Given the description of an element on the screen output the (x, y) to click on. 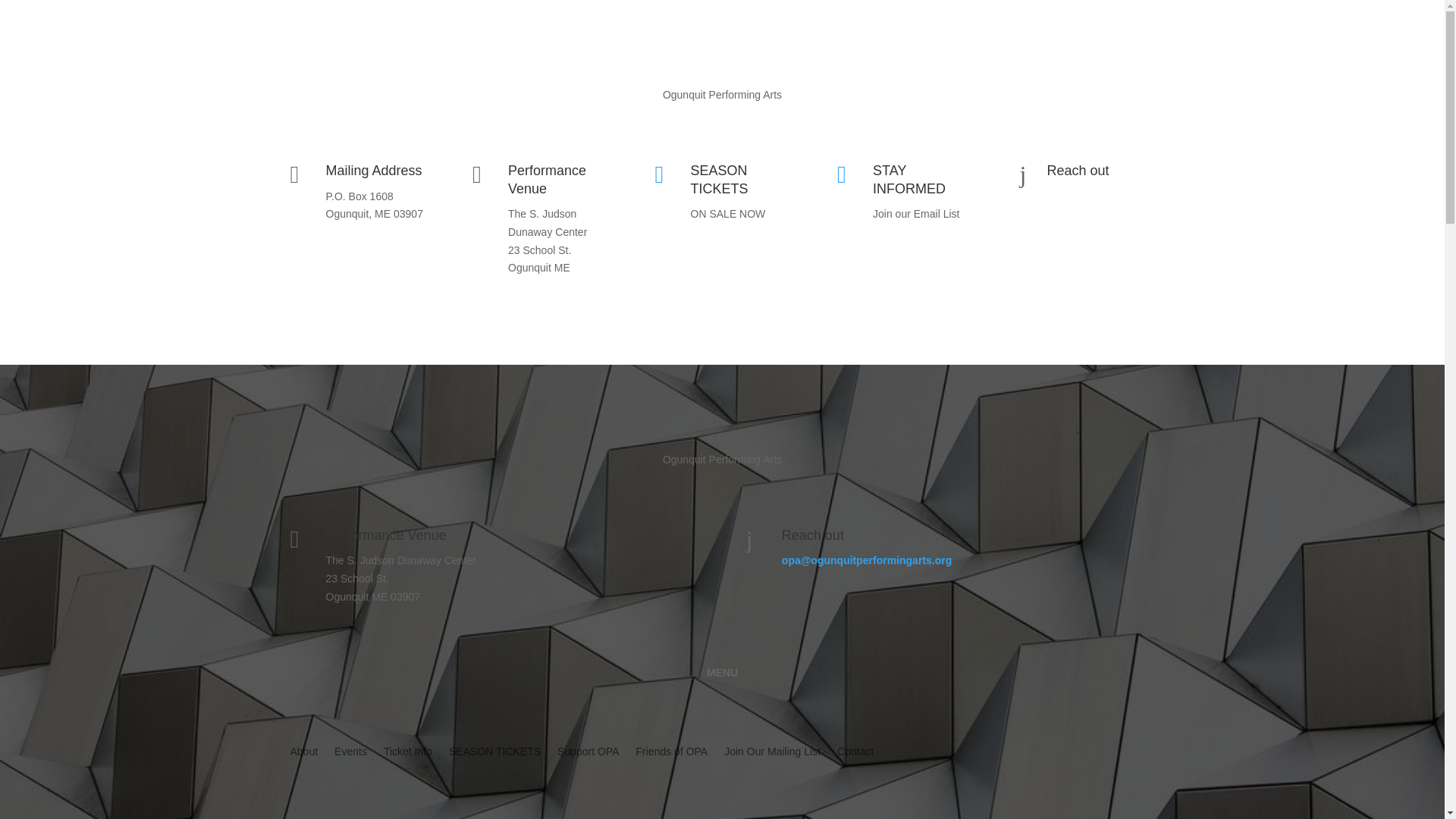
Friends of OPA (671, 754)
Support OPA (587, 754)
STAY INFORMED (908, 178)
Contact (855, 754)
SEASON TICKETS (494, 754)
Ticket Info (408, 754)
Join Our Mailing List (772, 754)
About (303, 754)
Events (350, 754)
SEASON TICKETS (719, 178)
